Given the description of an element on the screen output the (x, y) to click on. 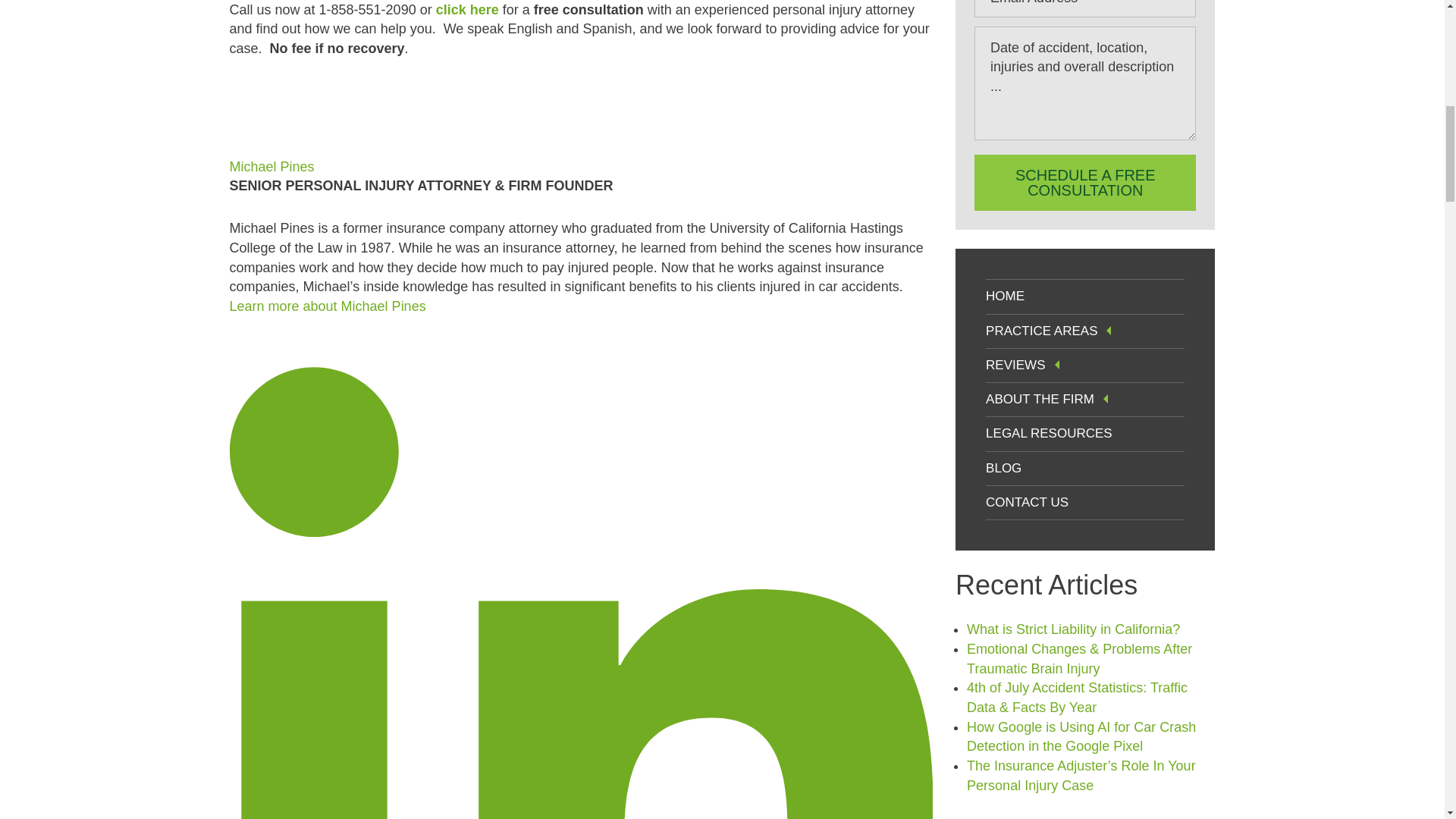
Schedule a Free Consultation (1084, 182)
